Given the description of an element on the screen output the (x, y) to click on. 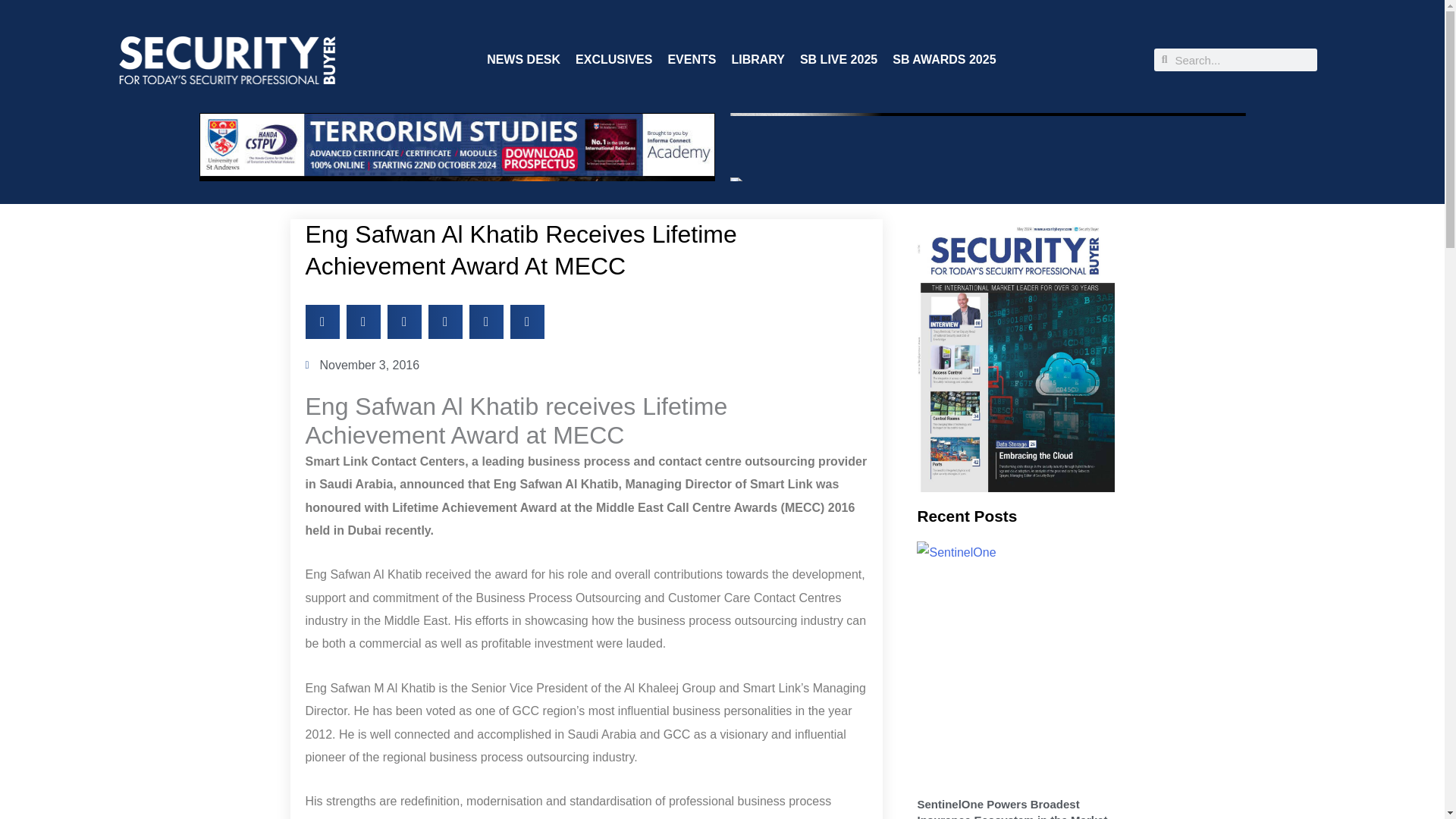
EVENTS (691, 59)
SB AWARDS 2025 (943, 59)
EXCLUSIVES (613, 59)
LIBRARY (757, 59)
SB LIVE 2025 (838, 59)
NEWS DESK (523, 59)
